Given the description of an element on the screen output the (x, y) to click on. 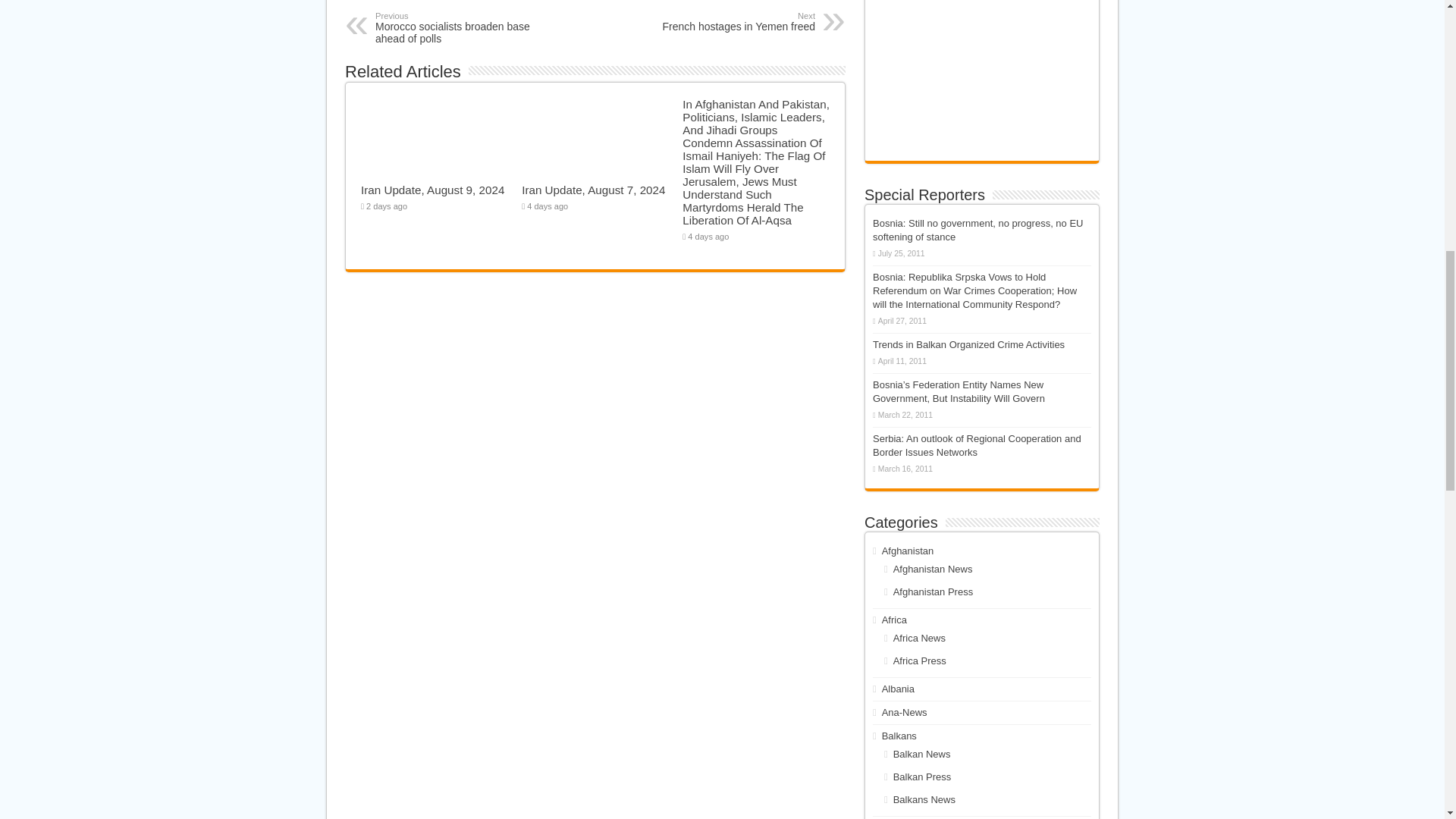
Iran Update, August 7, 2024 (593, 189)
Scroll To Top (737, 21)
Iran Update, August 9, 2024 (1421, 60)
